Given the description of an element on the screen output the (x, y) to click on. 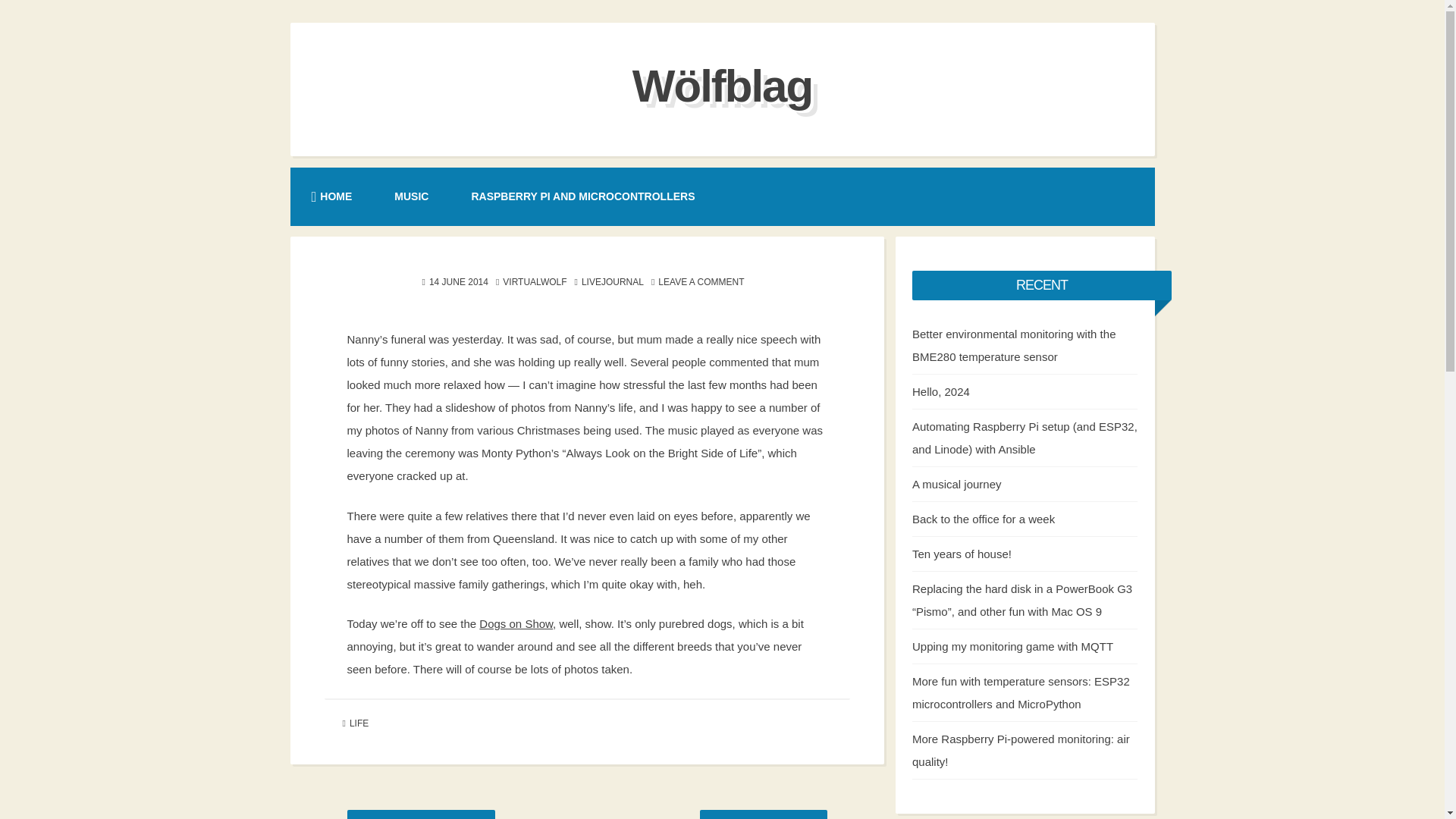
LEAVE A COMMENT (701, 281)
Back to the office for a week (983, 518)
VIRTUALWOLF (534, 281)
HOME (330, 196)
LIFE (358, 723)
MUSIC (410, 196)
Next Post (763, 814)
RASPBERRY PI AND MICROCONTROLLERS (582, 196)
A musical journey (956, 483)
